Given the description of an element on the screen output the (x, y) to click on. 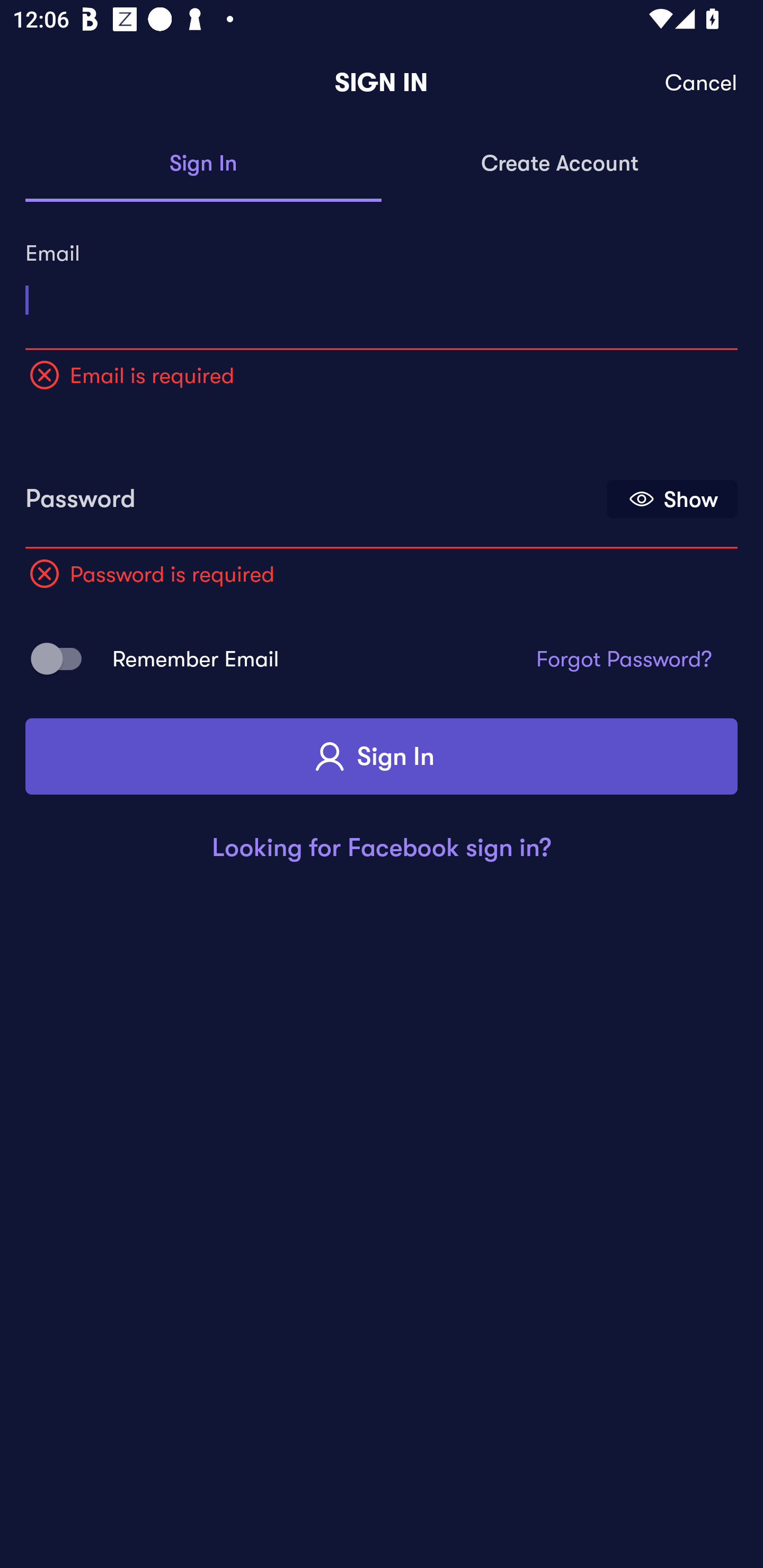
Cancel (701, 82)
Sign In (203, 164)
Create Account (559, 164)
Email, error message, Email is required (381, 293)
Password, error message, Password is required (314, 493)
Show Password Show (671, 498)
Remember Email (62, 658)
Sign In (381, 756)
